Given the description of an element on the screen output the (x, y) to click on. 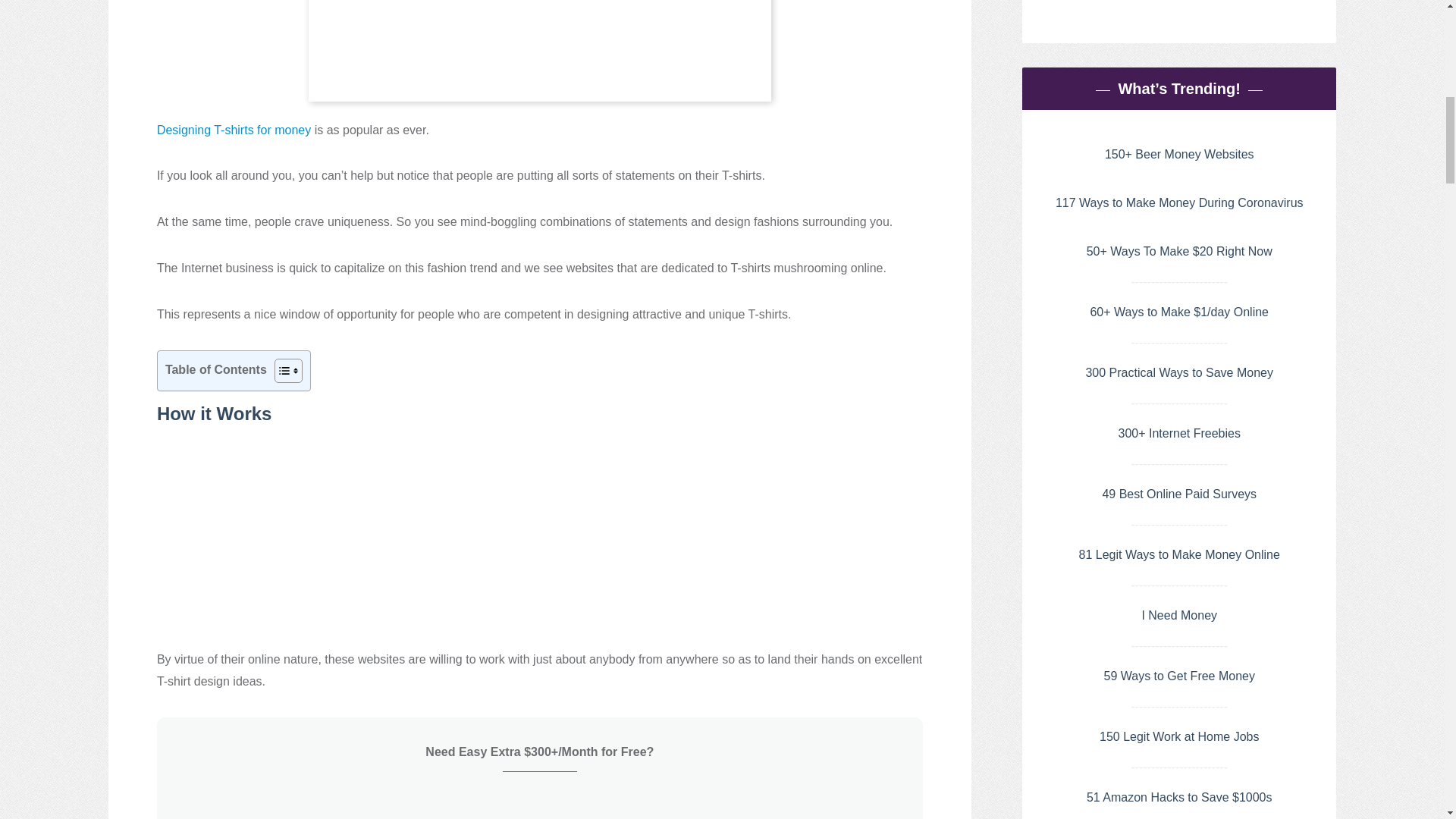
Designing T-shirts for money (234, 129)
117 Ways to Make Money During Coronavirus (1179, 202)
